Given the description of an element on the screen output the (x, y) to click on. 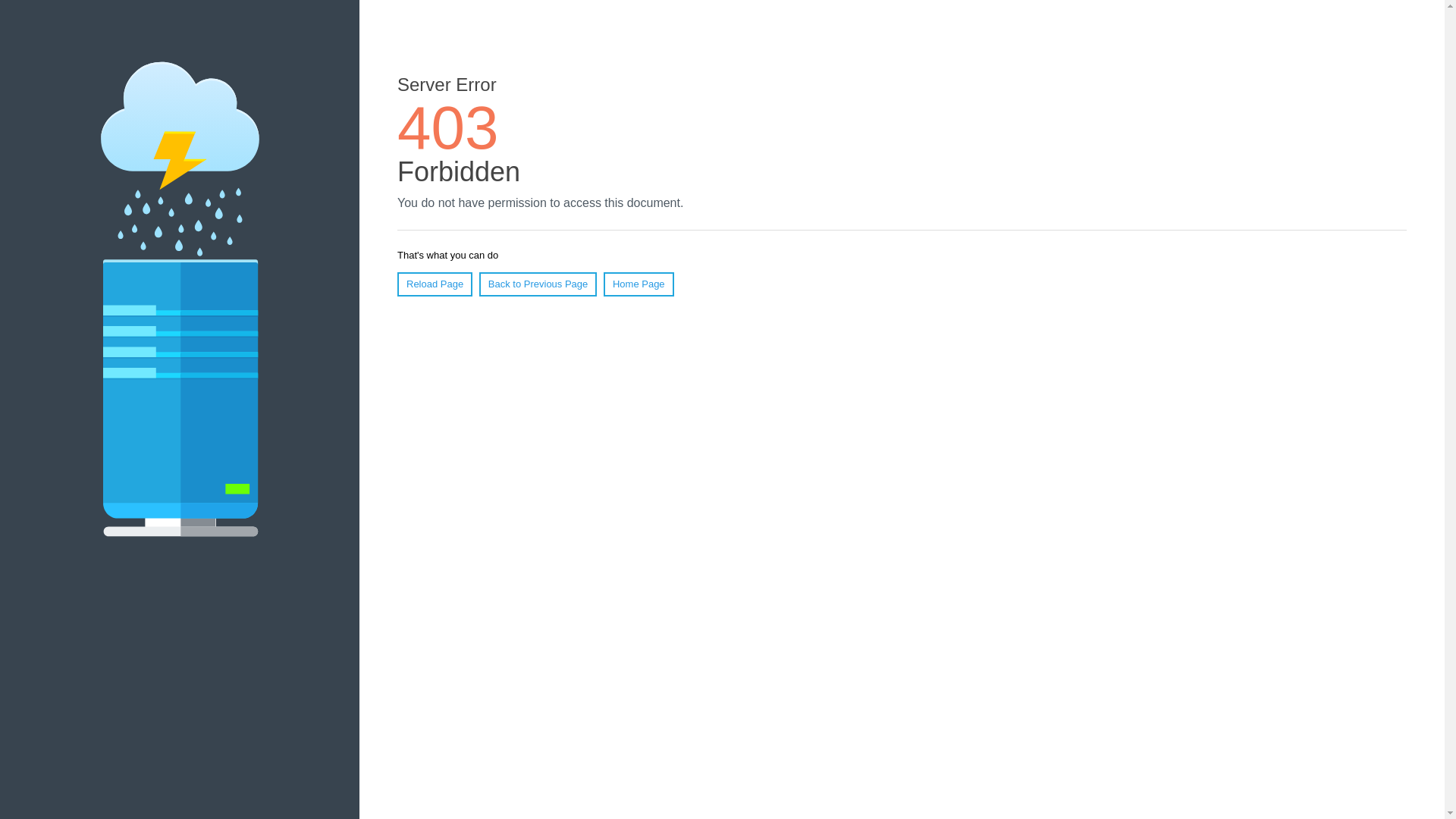
Home Page (639, 283)
Reload Page (434, 283)
Back to Previous Page (537, 283)
